Given the description of an element on the screen output the (x, y) to click on. 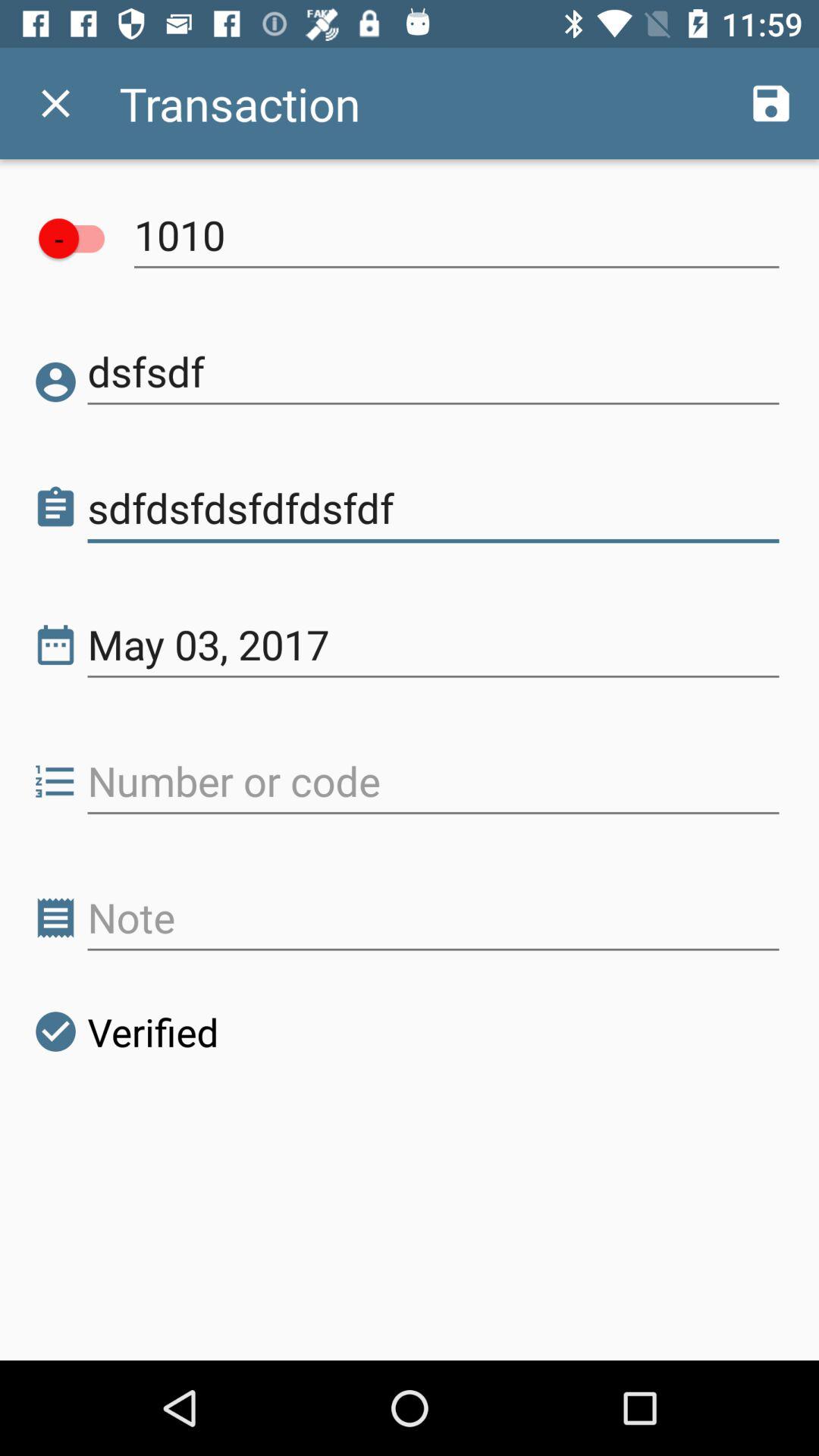
launch the icon next to dsfsdf icon (55, 381)
